Given the description of an element on the screen output the (x, y) to click on. 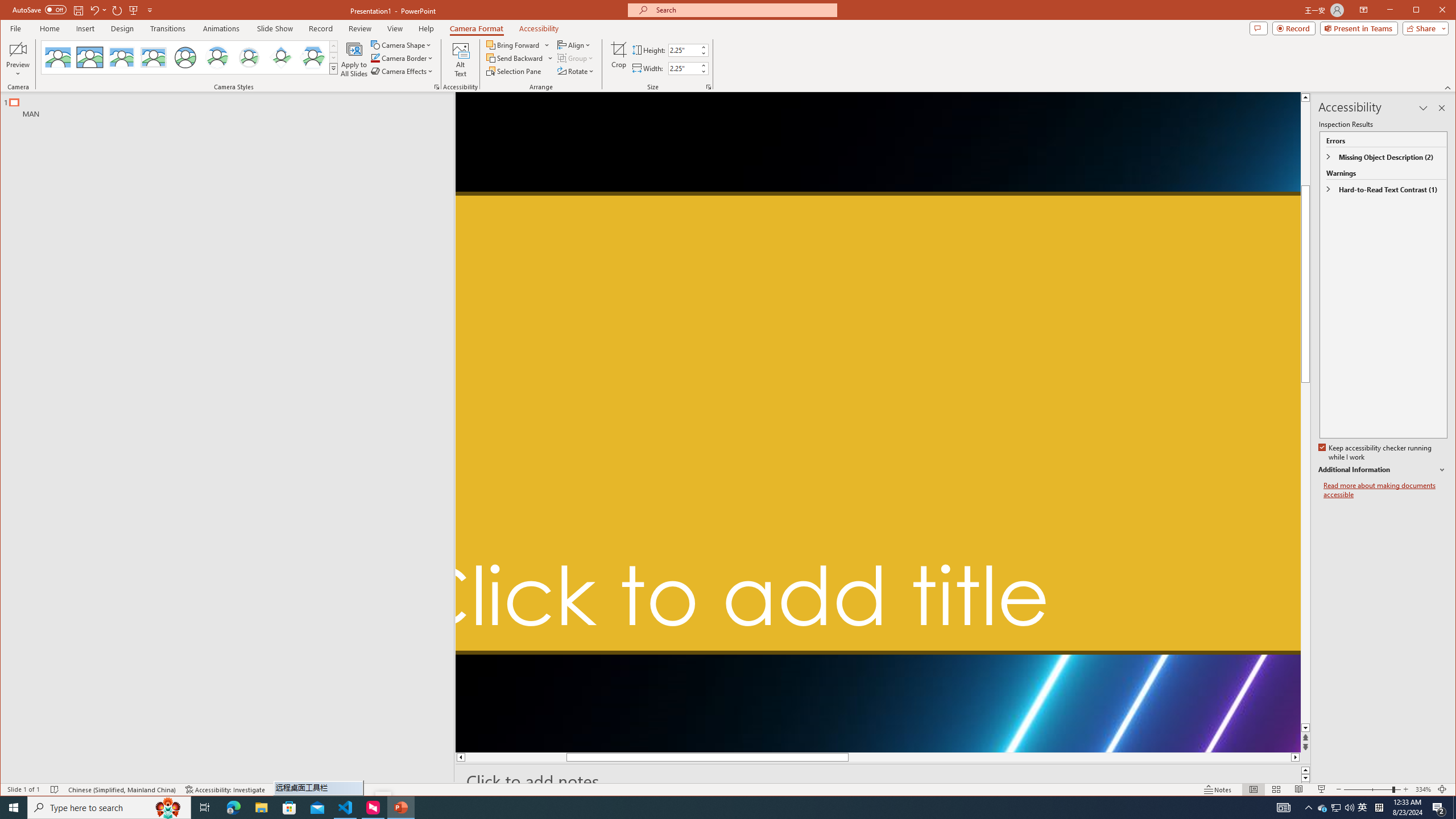
Send Backward (515, 57)
Neon laser lights aligned to form a triangle (877, 421)
